Given the description of an element on the screen output the (x, y) to click on. 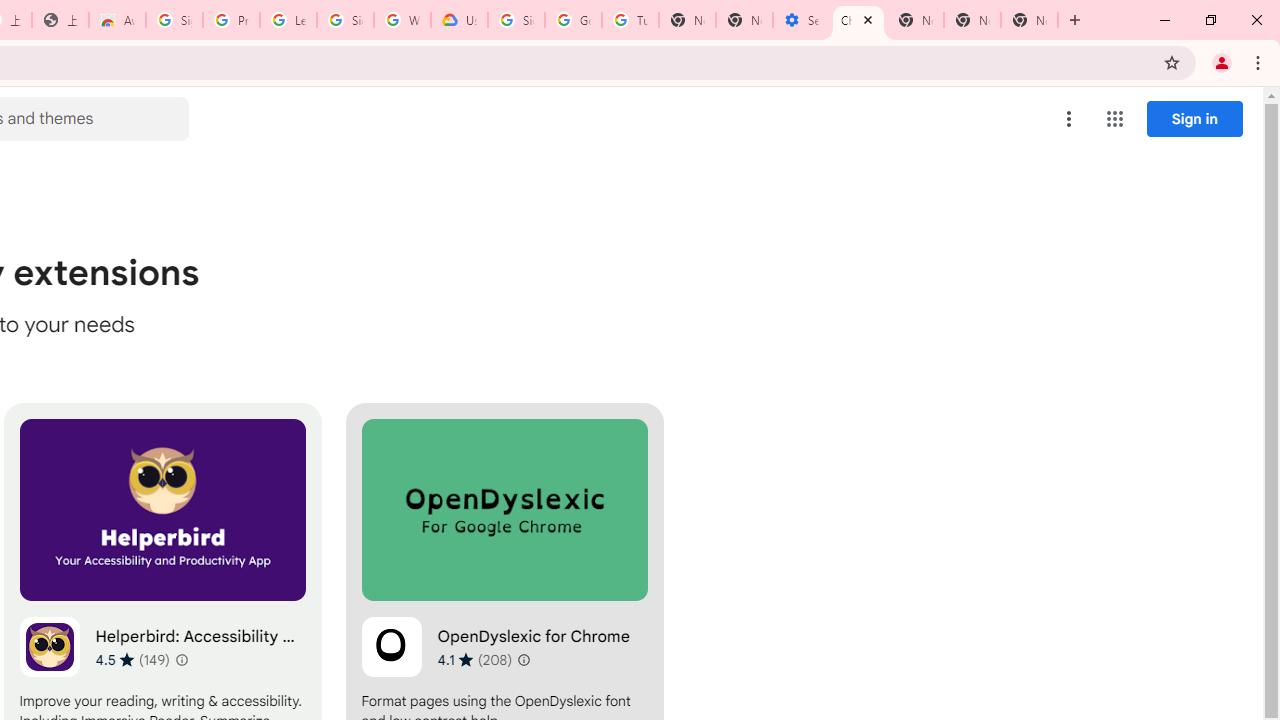
Turn cookies on or off - Computer - Google Account Help (630, 20)
New Tab (915, 20)
Average rating 4.1 out of 5 stars. 208 ratings. (474, 659)
More options menu (1069, 118)
Who are Google's partners? - Privacy and conditions - Google (402, 20)
Sign in - Google Accounts (516, 20)
New Tab (1029, 20)
